Given the description of an element on the screen output the (x, y) to click on. 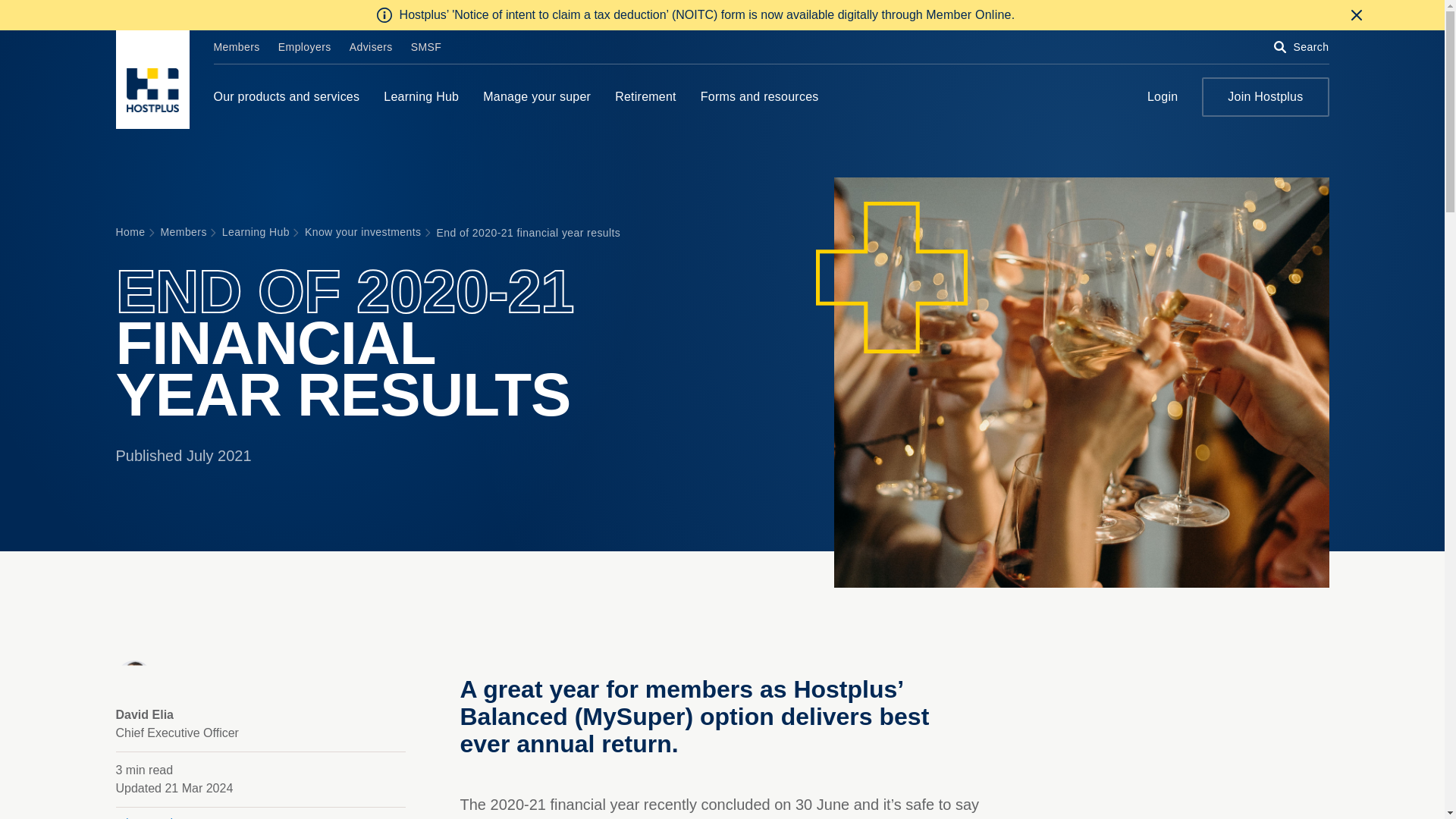
Retirement (645, 96)
Learning Hub (421, 96)
Member Online. (970, 15)
Login (1162, 96)
Forms and resources (759, 96)
Employers (304, 47)
Members (237, 47)
Join Hostplus (1264, 96)
Our products and services (286, 96)
Manage your super (537, 96)
